Given the description of an element on the screen output the (x, y) to click on. 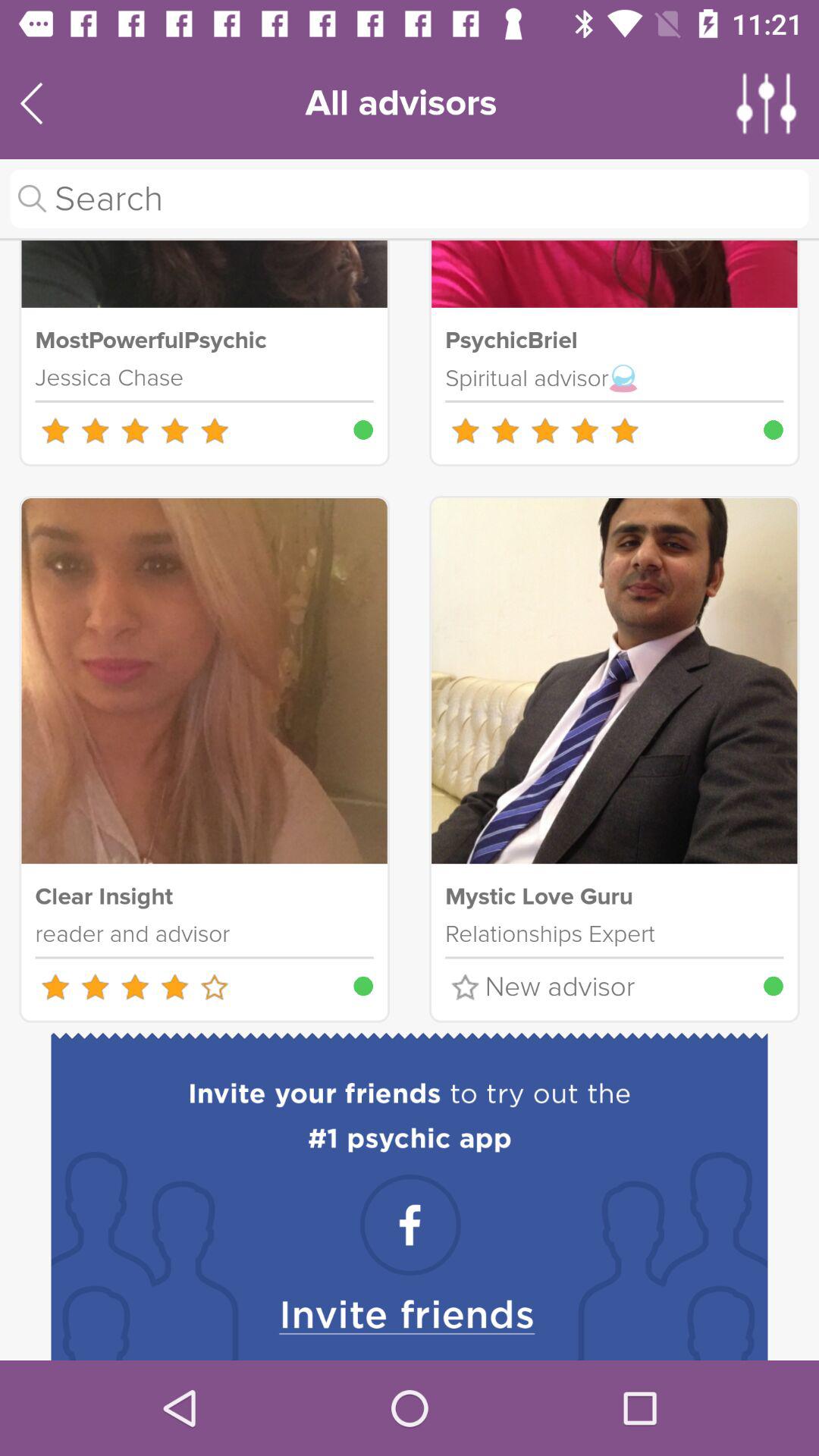
media play options (767, 103)
